Given the description of an element on the screen output the (x, y) to click on. 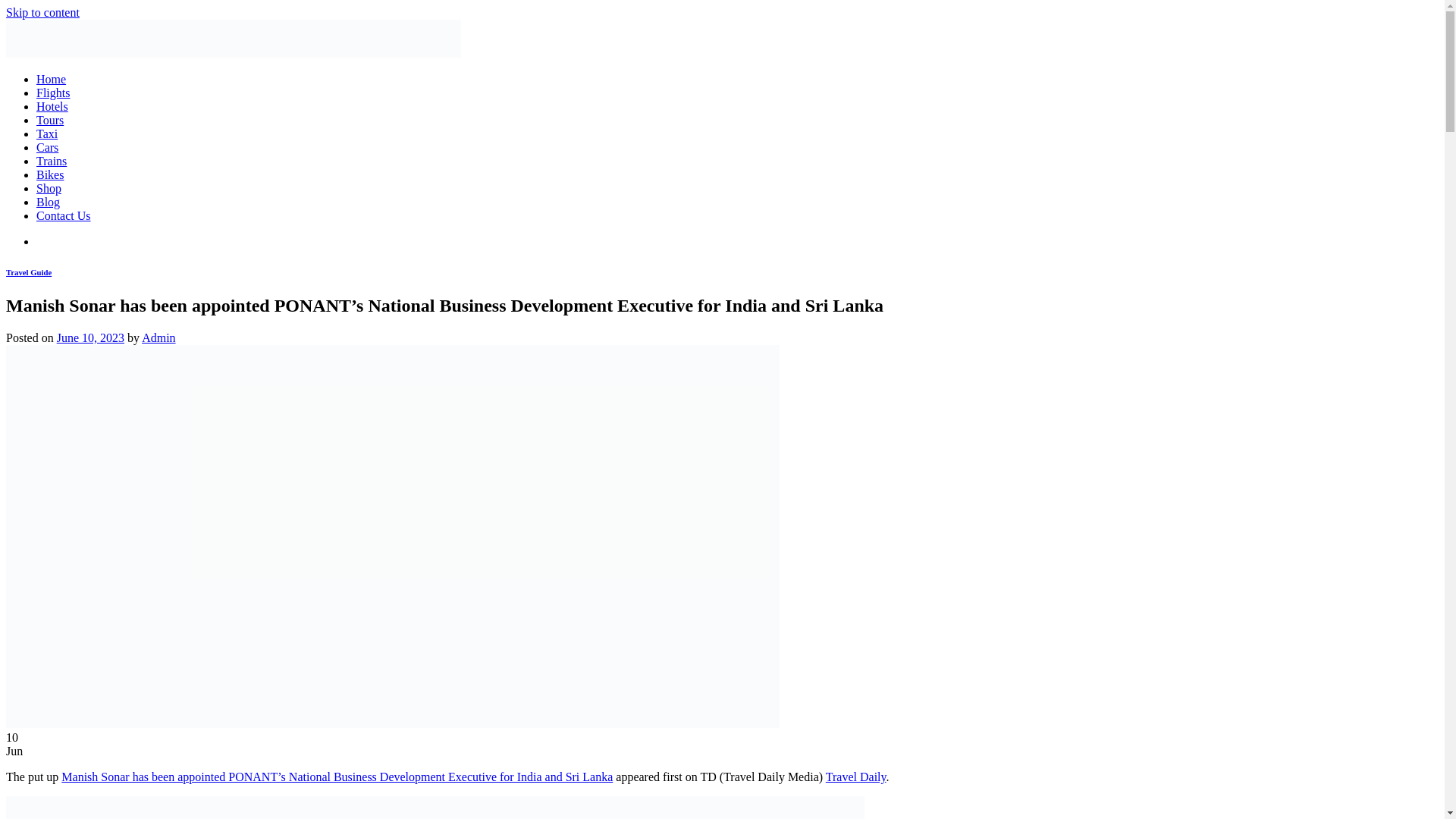
Hotels (52, 106)
Admin (157, 337)
Skip to content (42, 11)
Cars (47, 146)
Travel Daily (855, 776)
Bikes (50, 174)
Home (50, 78)
Contact Us (63, 215)
June 10, 2023 (89, 337)
Flights (52, 92)
Tours (50, 119)
Shop (48, 187)
Trains (51, 160)
bookingtwo - Get Deals on flights and hotels (233, 52)
Taxi (47, 133)
